Given the description of an element on the screen output the (x, y) to click on. 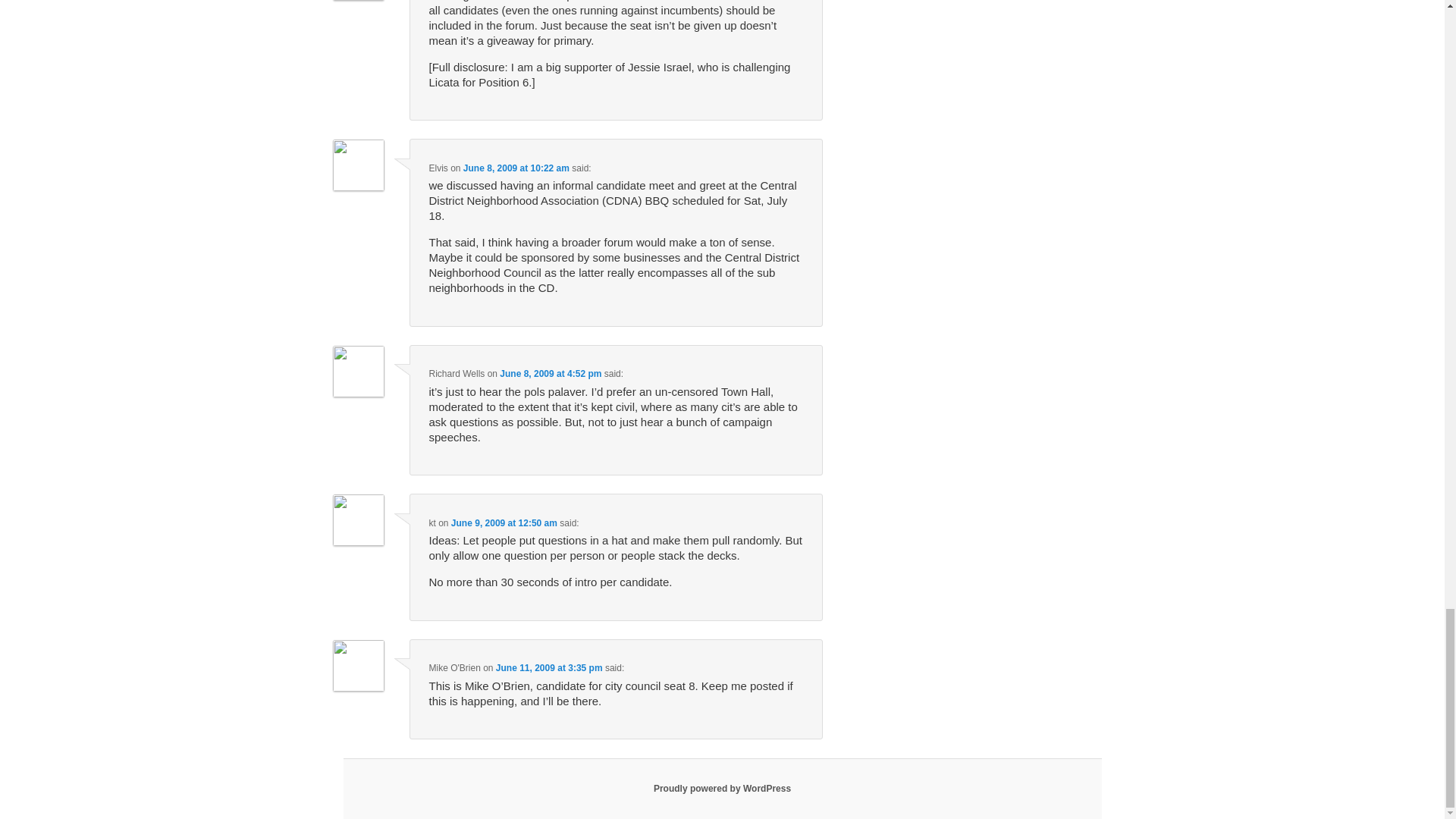
June 9, 2009 at 12:50 am (504, 522)
June 8, 2009 at 10:22 am (516, 167)
June 8, 2009 at 4:52 pm (550, 373)
June 11, 2009 at 3:35 pm (549, 667)
Semantic Personal Publishing Platform (721, 787)
